Given the description of an element on the screen output the (x, y) to click on. 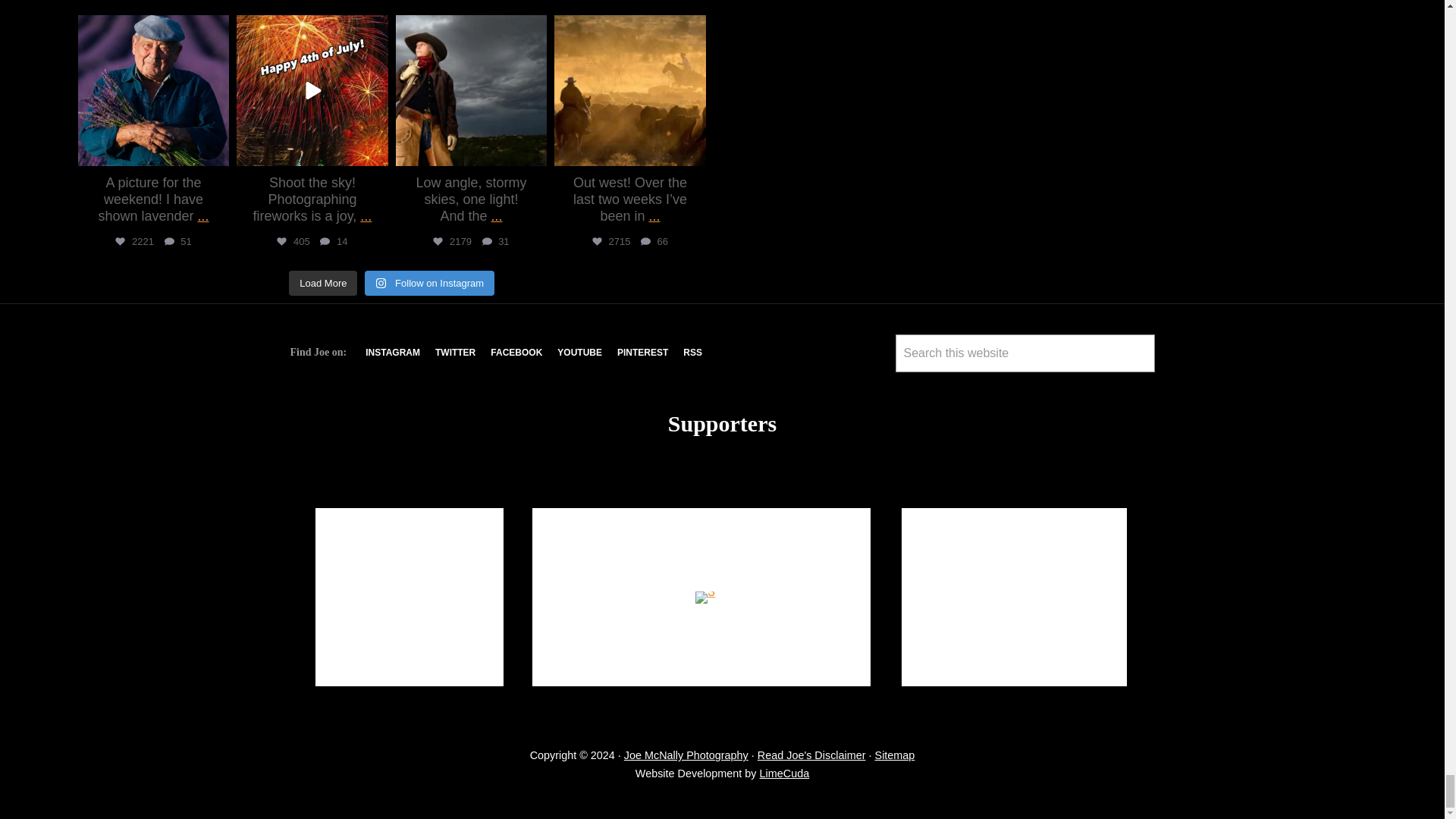
Search (913, 385)
Become a fan of Joe on Facebook (515, 352)
Search (913, 385)
Follow Joe on Instagram (392, 352)
Follow Joe on Twitter (455, 352)
